Given the description of an element on the screen output the (x, y) to click on. 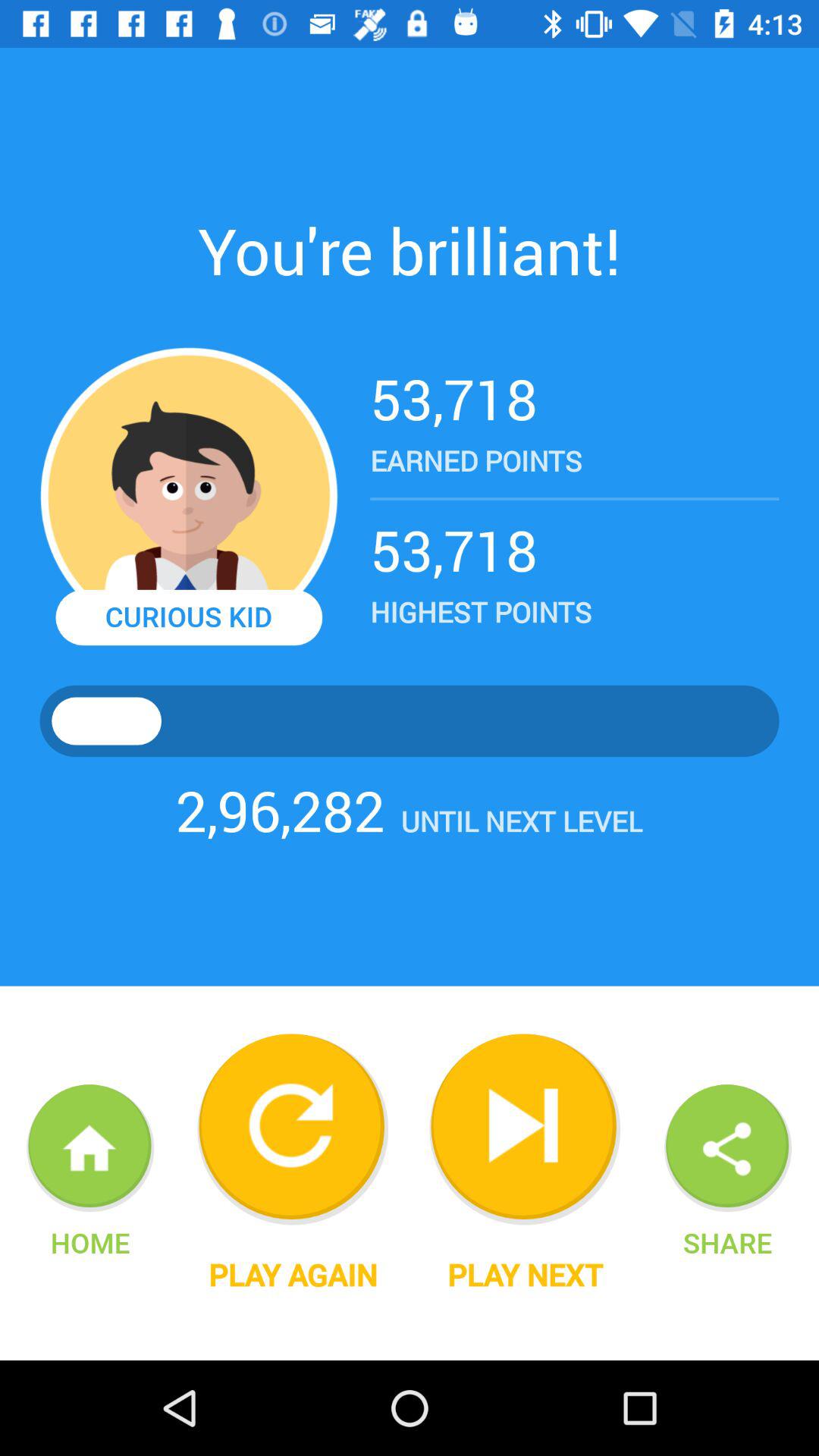
flip until the play next (524, 1274)
